Given the description of an element on the screen output the (x, y) to click on. 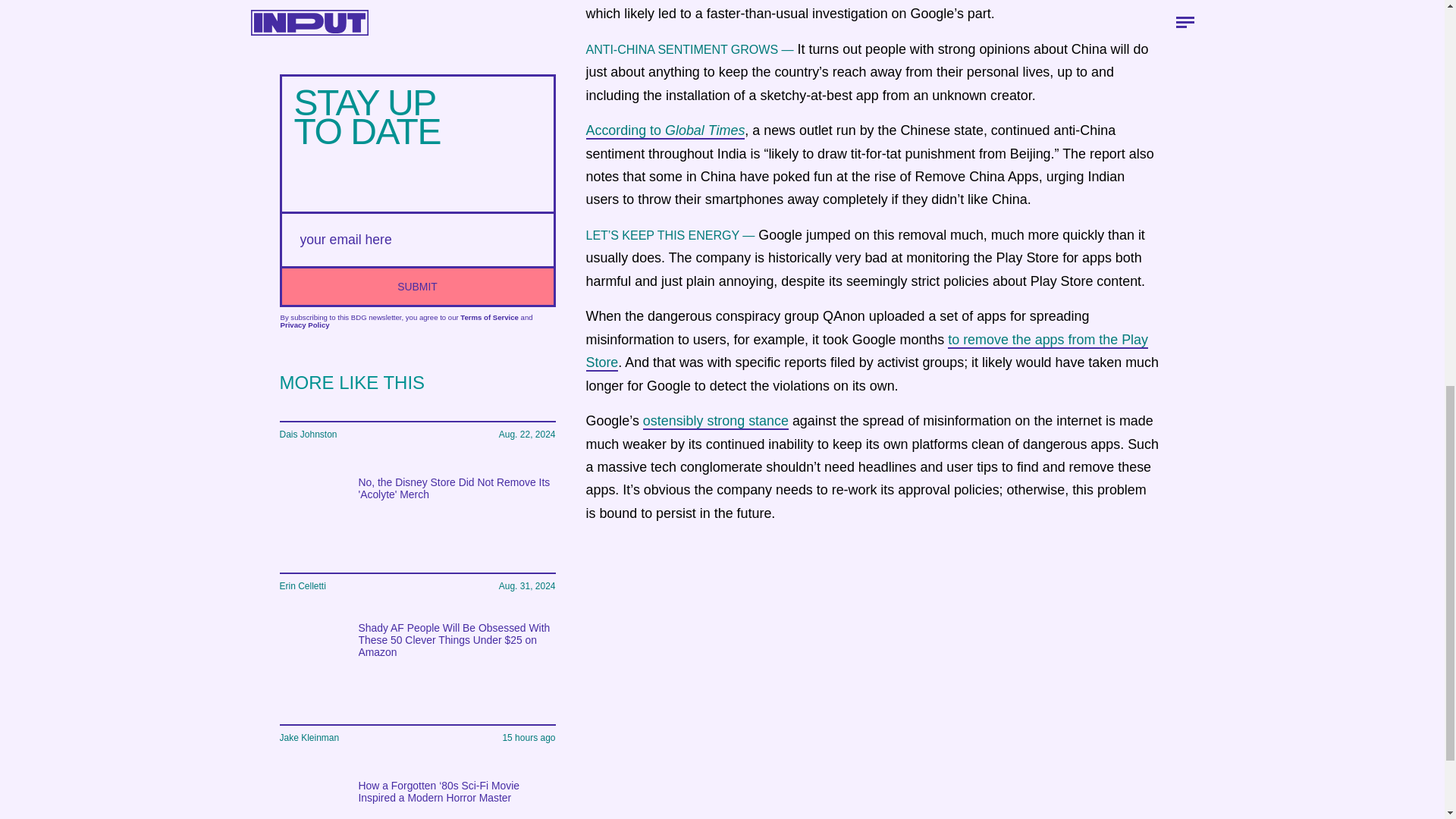
Terms of Service (489, 316)
to remove the apps from the Play Store (866, 351)
ostensibly strong stance (716, 421)
Privacy Policy (305, 325)
SUBMIT (417, 285)
According to Global Times (664, 130)
